Given the description of an element on the screen output the (x, y) to click on. 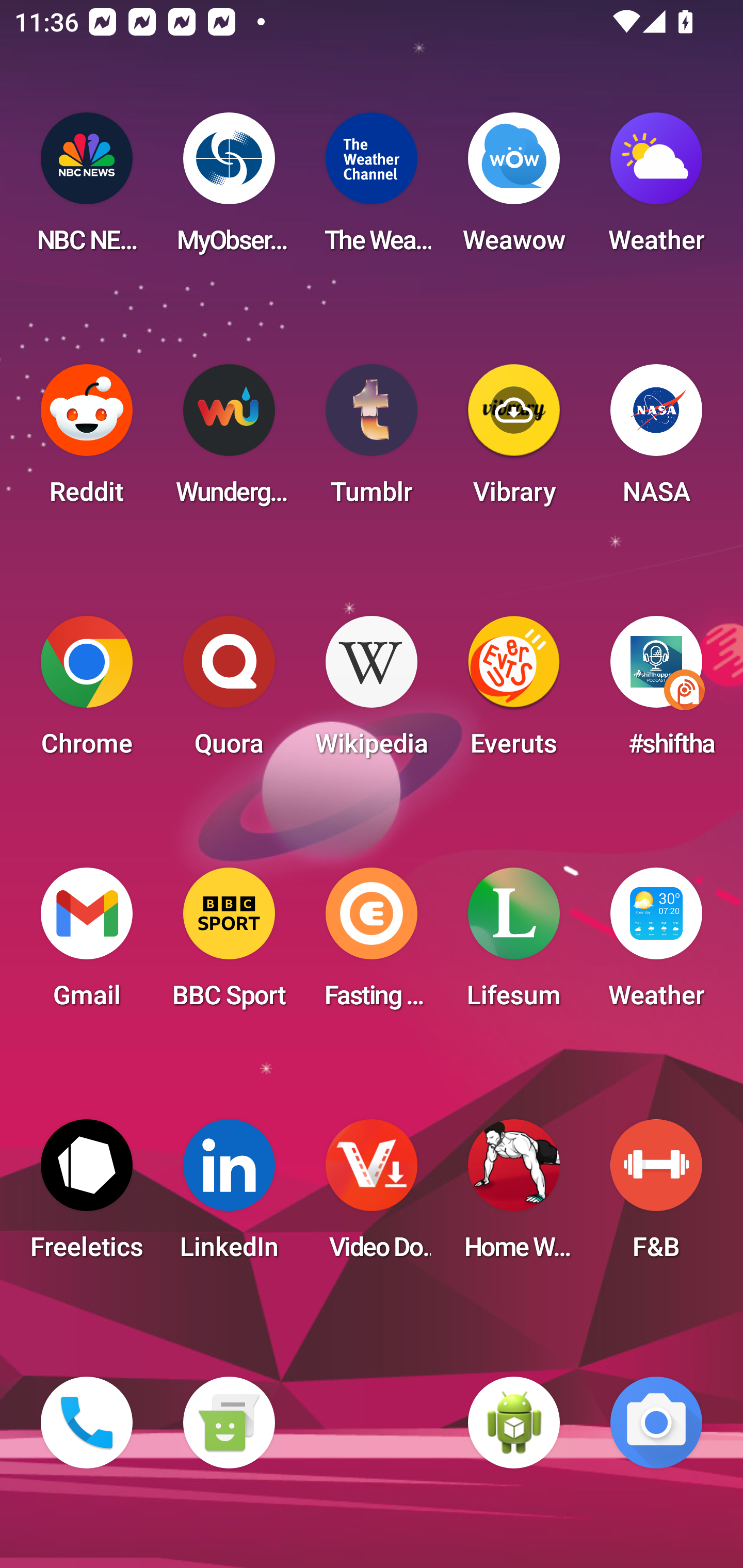
NBC NEWS (86, 188)
MyObservatory (228, 188)
The Weather Channel (371, 188)
Weawow (513, 188)
Weather (656, 188)
Reddit (86, 440)
Wunderground (228, 440)
Tumblr (371, 440)
Vibrary (513, 440)
NASA (656, 440)
Chrome (86, 692)
Quora (228, 692)
Wikipedia (371, 692)
Everuts (513, 692)
#shifthappens in the Digital Workplace Podcast (656, 692)
Gmail (86, 943)
BBC Sport (228, 943)
Fasting Coach (371, 943)
Lifesum (513, 943)
Weather (656, 943)
Freeletics (86, 1195)
LinkedIn (228, 1195)
Video Downloader & Ace Player (371, 1195)
Home Workout (513, 1195)
F&B (656, 1195)
Phone (86, 1422)
Messaging (228, 1422)
WebView Browser Tester (513, 1422)
Camera (656, 1422)
